Given the description of an element on the screen output the (x, y) to click on. 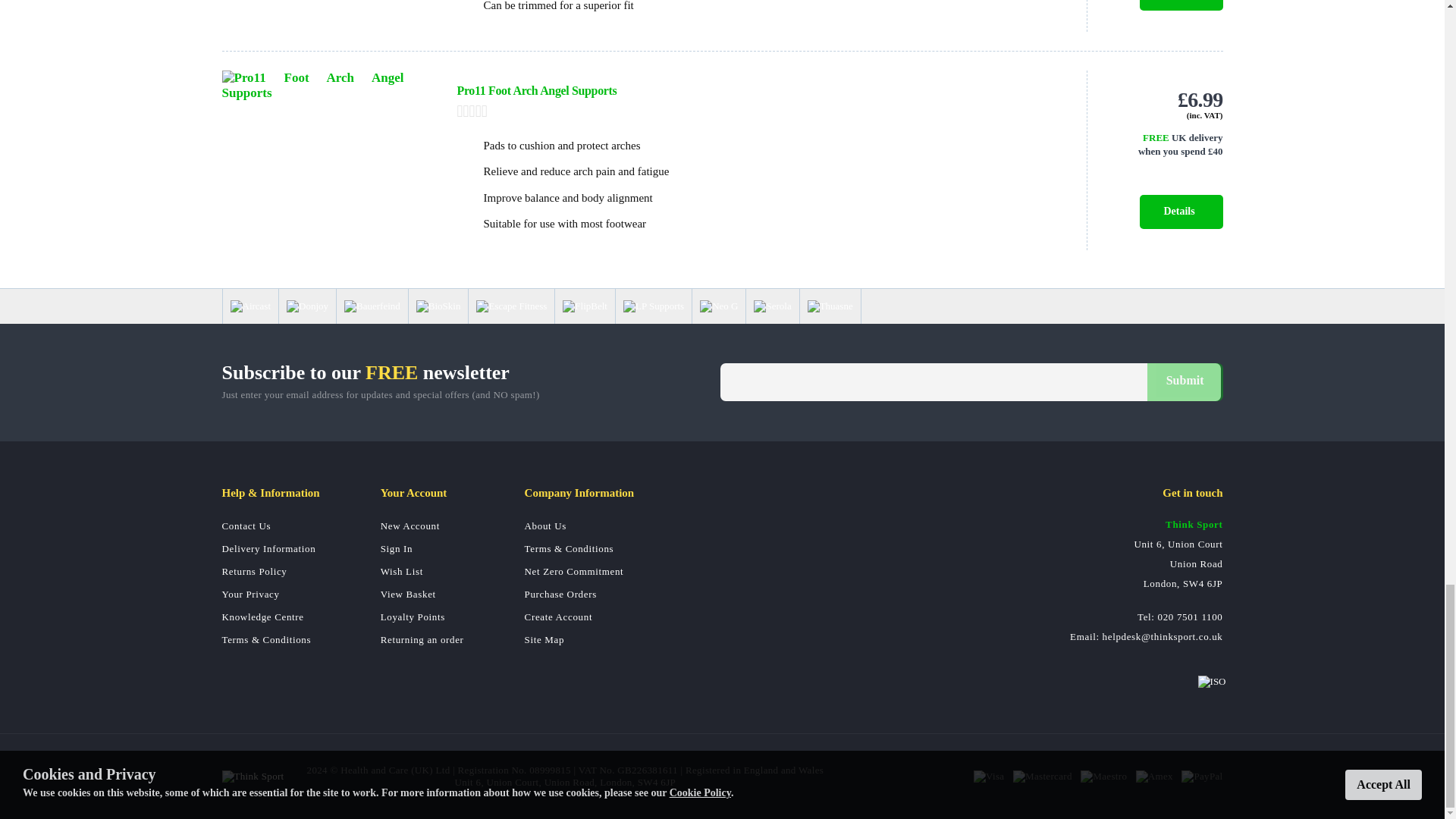
Pro11 Foot Arch Angel Supports (536, 90)
Not yet reviewed (756, 111)
Click for details (1164, 145)
Details (1180, 5)
Full product details (1180, 5)
Details (1180, 211)
Escape Fitness (511, 306)
BioSkin (438, 306)
LP Supports (653, 306)
Full product details (1180, 211)
